Given the description of an element on the screen output the (x, y) to click on. 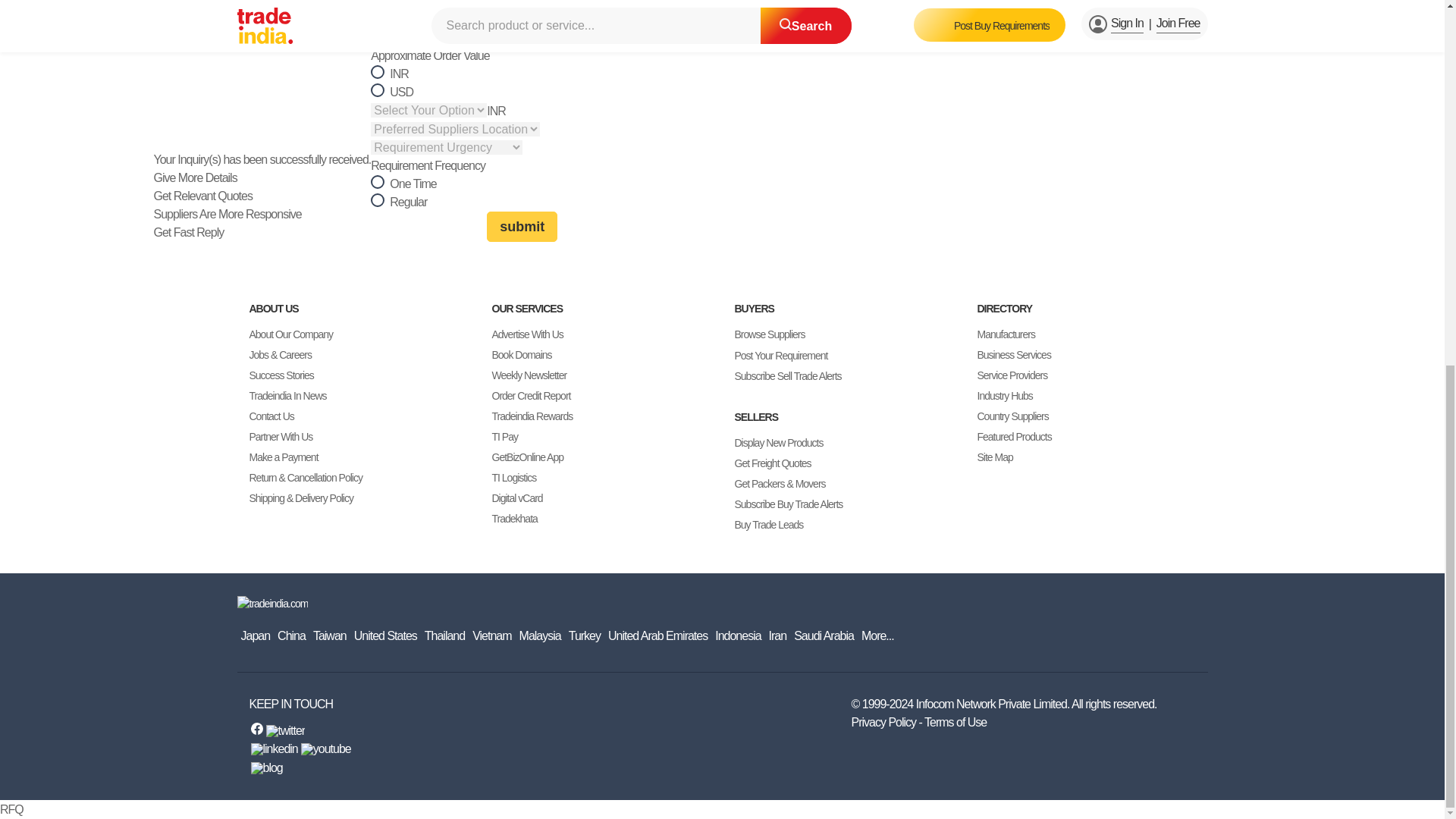
Tradeindia Rewards (532, 416)
Digital vCard (516, 498)
Partner With Us (280, 436)
YouTube (325, 748)
Subscribe Buy Trade Alerts (788, 504)
TI Logistics (513, 477)
Manufacturers (1004, 334)
Post Your Requirement (780, 355)
TI Pay (504, 436)
Twitter (284, 730)
